Given the description of an element on the screen output the (x, y) to click on. 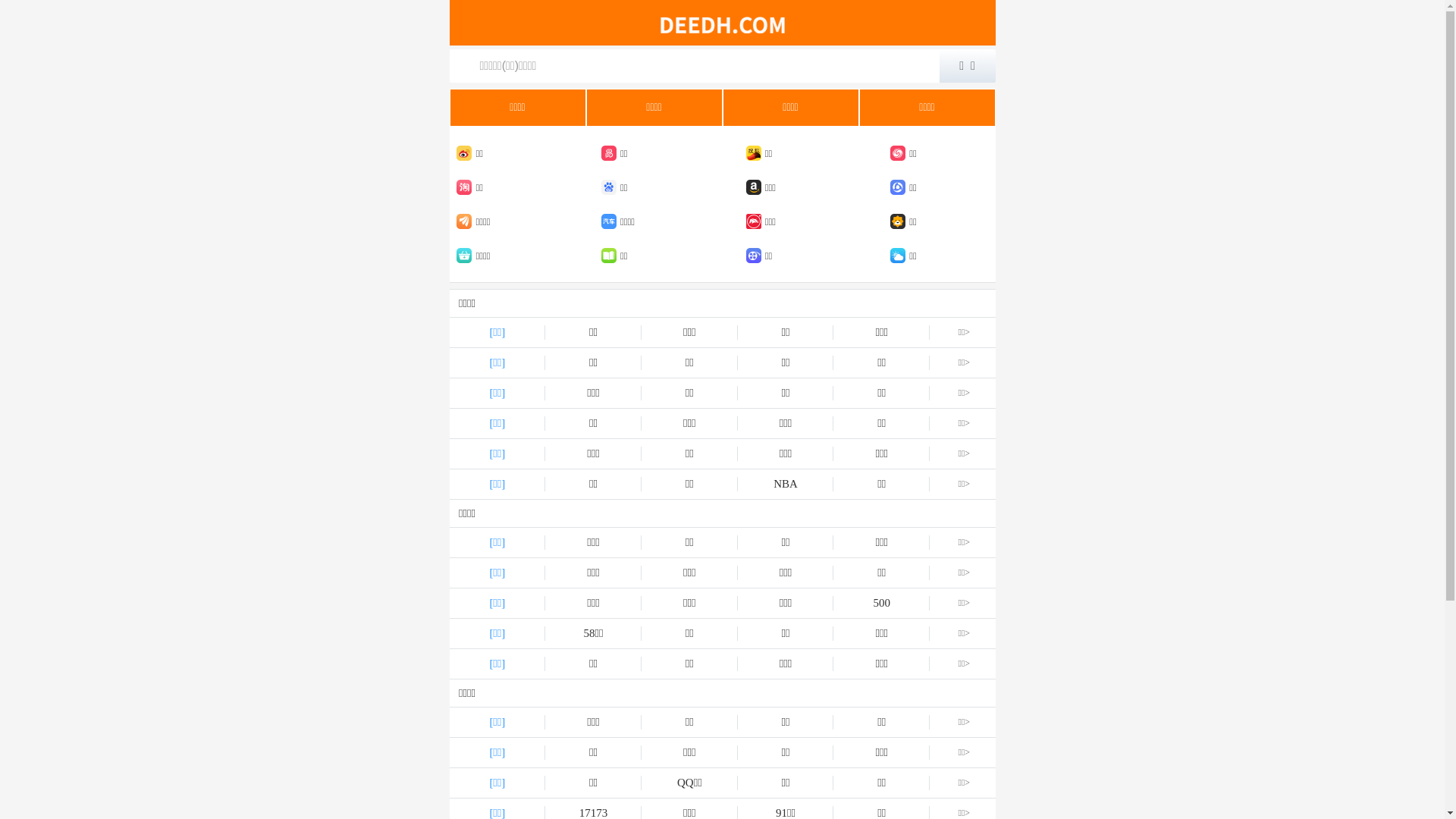
500 Element type: text (881, 603)
NBA Element type: text (785, 483)
